Given the description of an element on the screen output the (x, y) to click on. 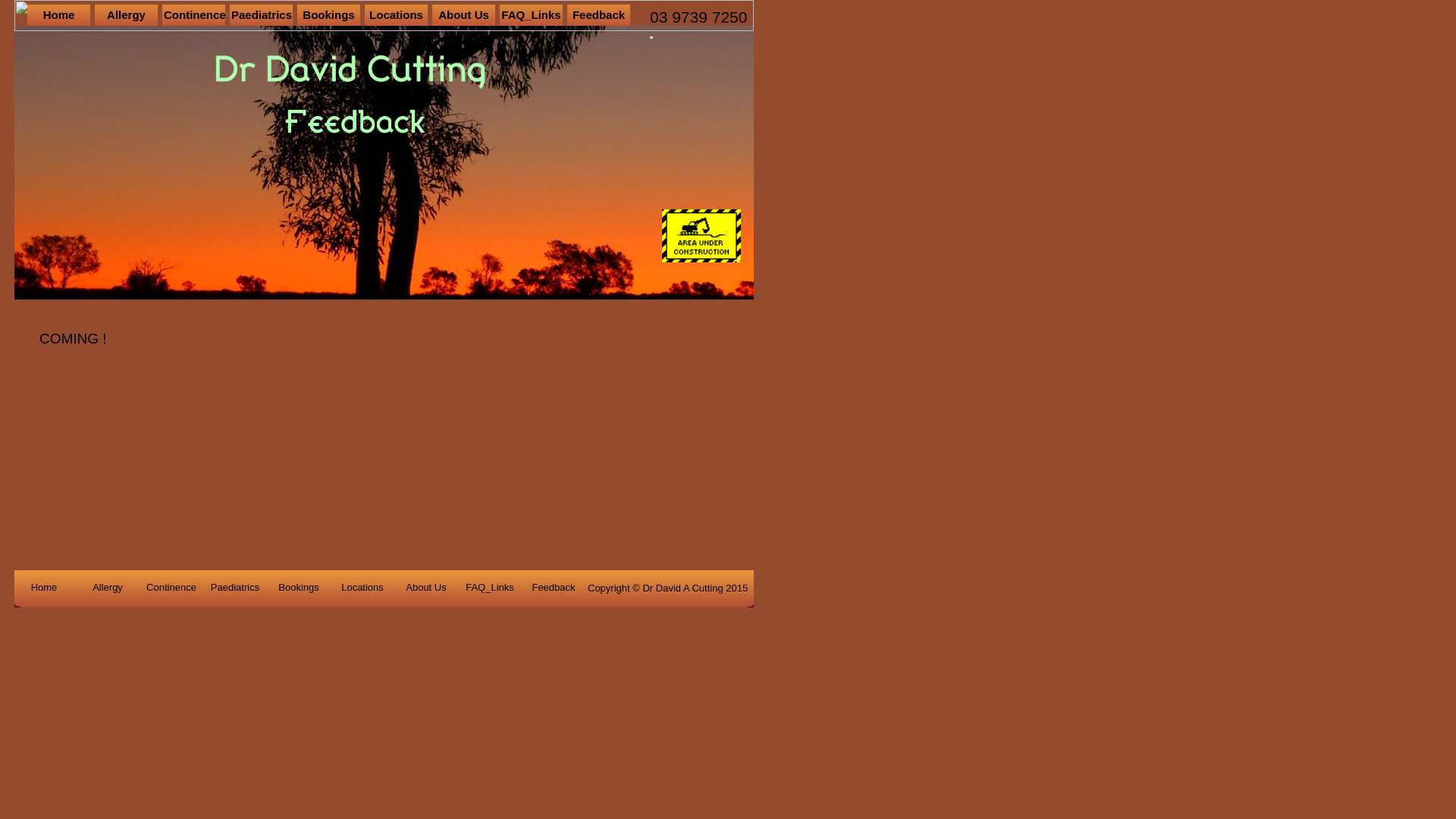
Continence Element type: text (170, 587)
FAQ_Links Element type: text (489, 587)
Paediatrics Element type: text (234, 587)
About Us Element type: text (463, 14)
FAQ_Links Element type: text (530, 14)
About Us Element type: text (425, 587)
Feedback Element type: text (598, 14)
Feedback Element type: text (553, 587)
Locations Element type: text (395, 14)
Continence Element type: text (193, 14)
Bookings Element type: text (298, 587)
Locations Element type: text (362, 587)
Allergy Element type: text (125, 14)
Bookings Element type: text (328, 14)
Allergy Element type: text (107, 587)
Home Element type: text (43, 587)
Home Element type: text (58, 14)
Paediatrics Element type: text (260, 14)
